Given the description of an element on the screen output the (x, y) to click on. 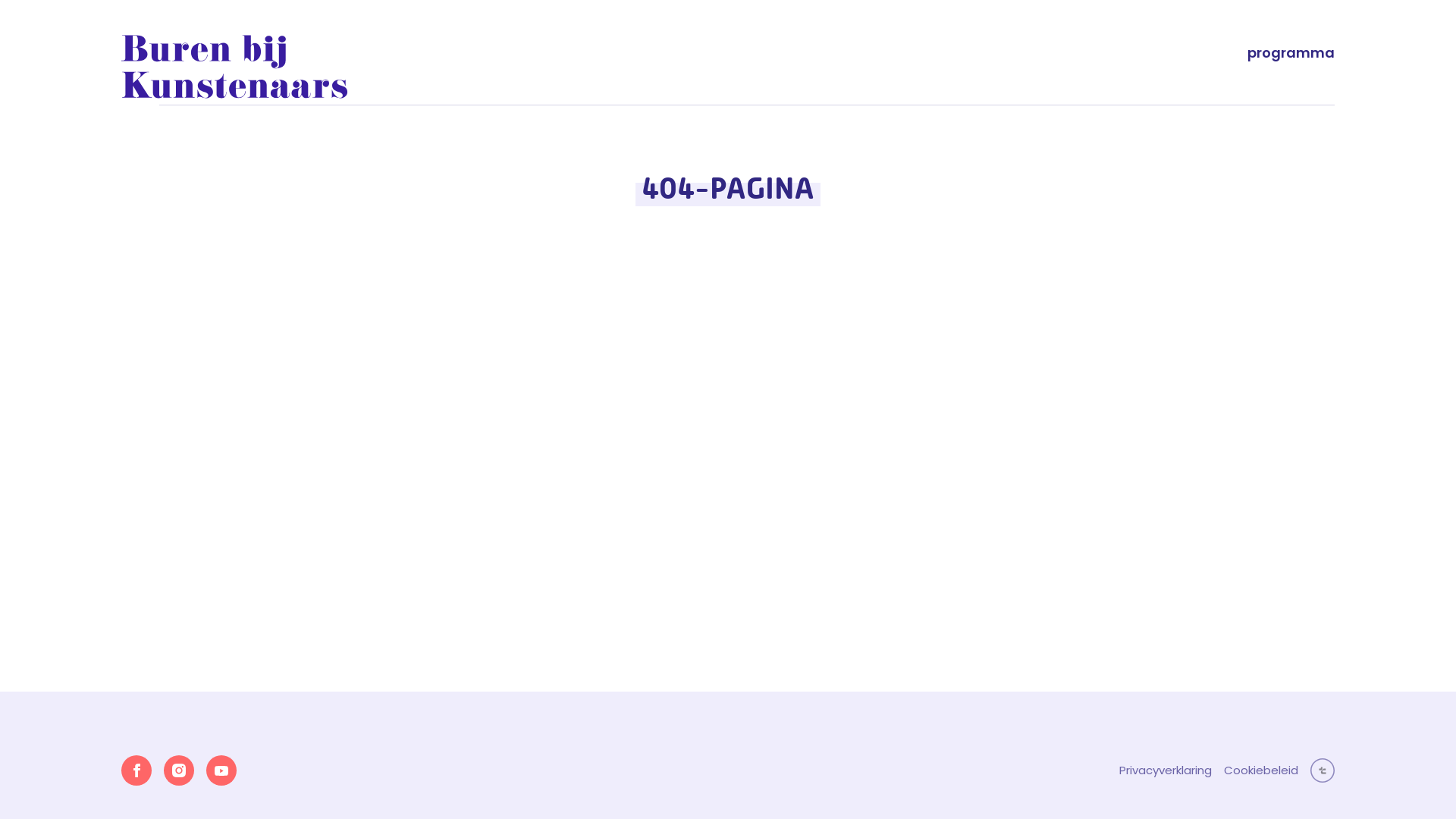
Cookiebeleid Element type: text (1260, 770)
Privacyverklaring Element type: text (1165, 770)
programma Element type: text (1290, 52)
